Given the description of an element on the screen output the (x, y) to click on. 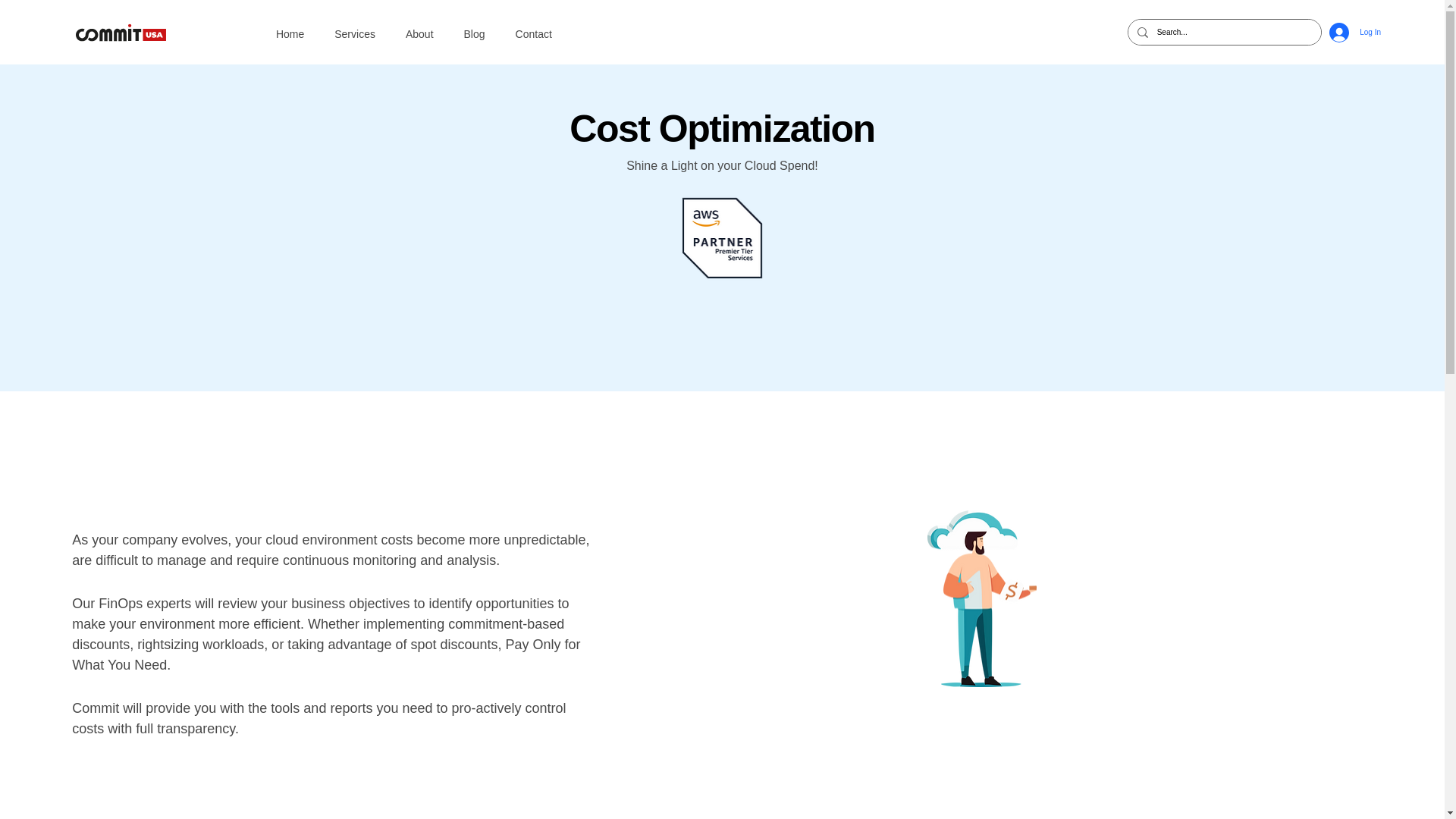
Log In (1355, 32)
Contact (533, 33)
Blog (474, 33)
Home (289, 33)
About (419, 33)
